Given the description of an element on the screen output the (x, y) to click on. 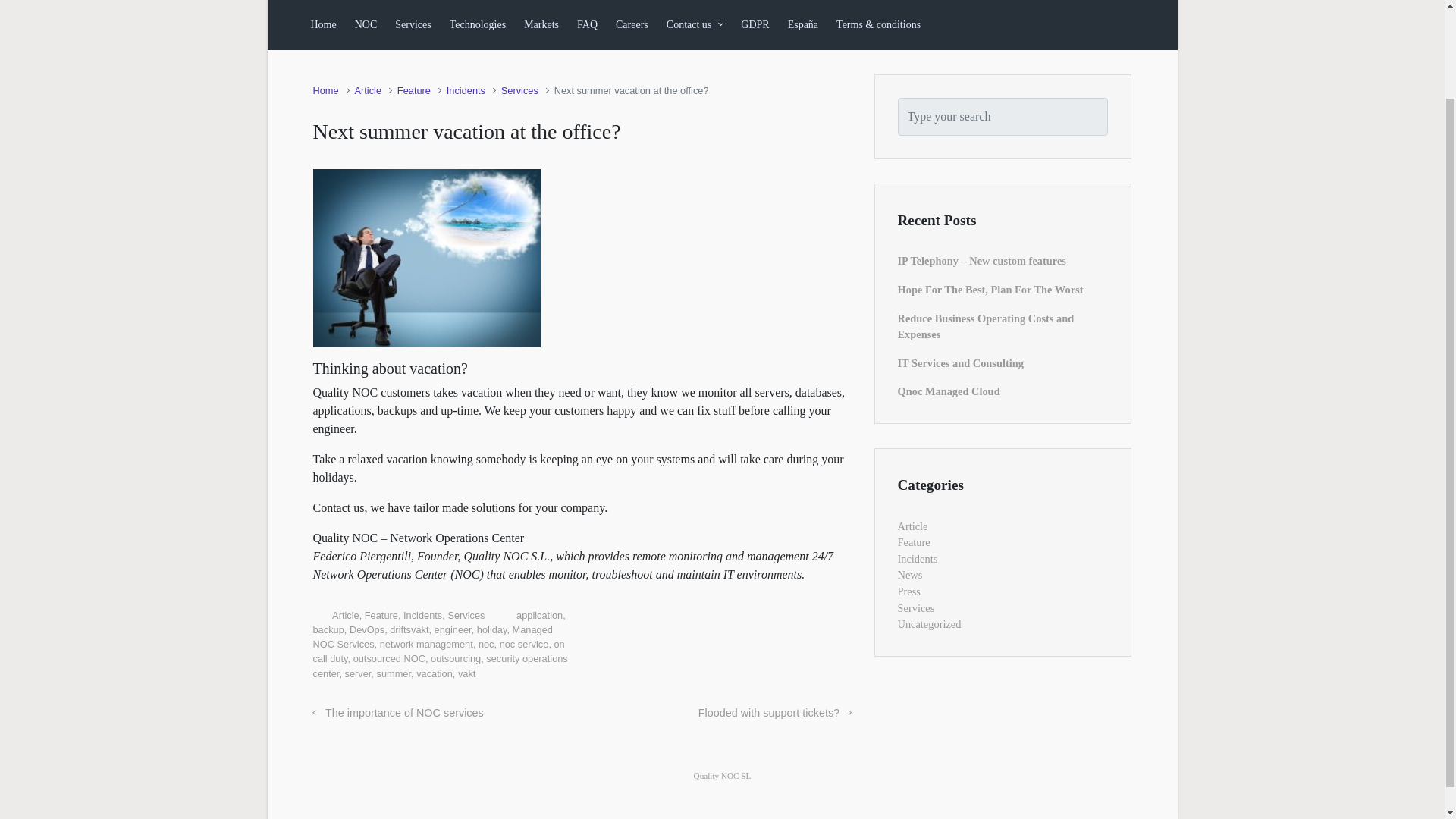
Careers (631, 24)
Share by Email (822, 618)
Services (412, 24)
Home (325, 90)
GDPR (754, 24)
Article (367, 90)
Incidents (465, 90)
Article (345, 614)
Feature (413, 90)
Services (519, 90)
